Given the description of an element on the screen output the (x, y) to click on. 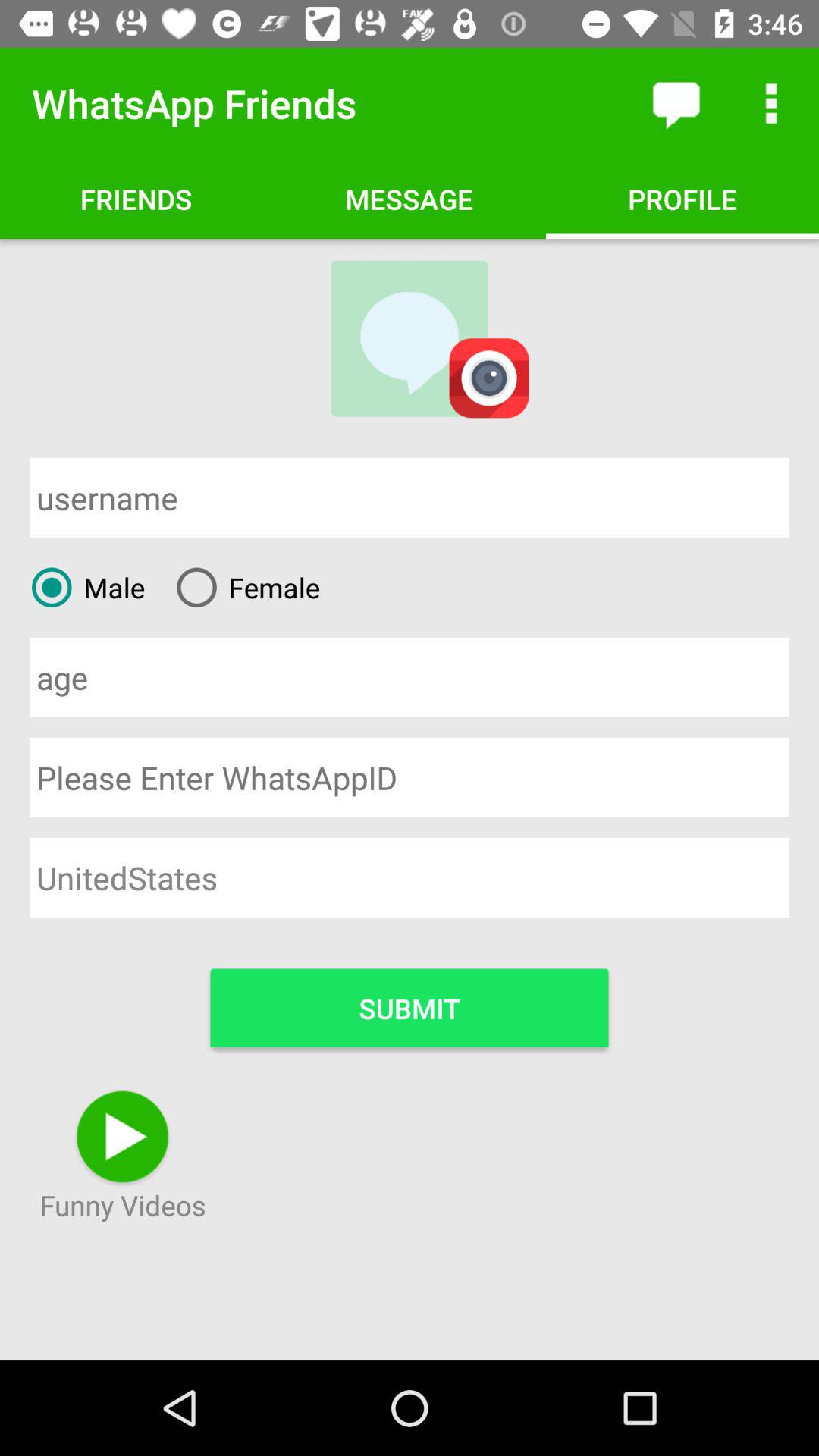
open icon above the submit (409, 877)
